Given the description of an element on the screen output the (x, y) to click on. 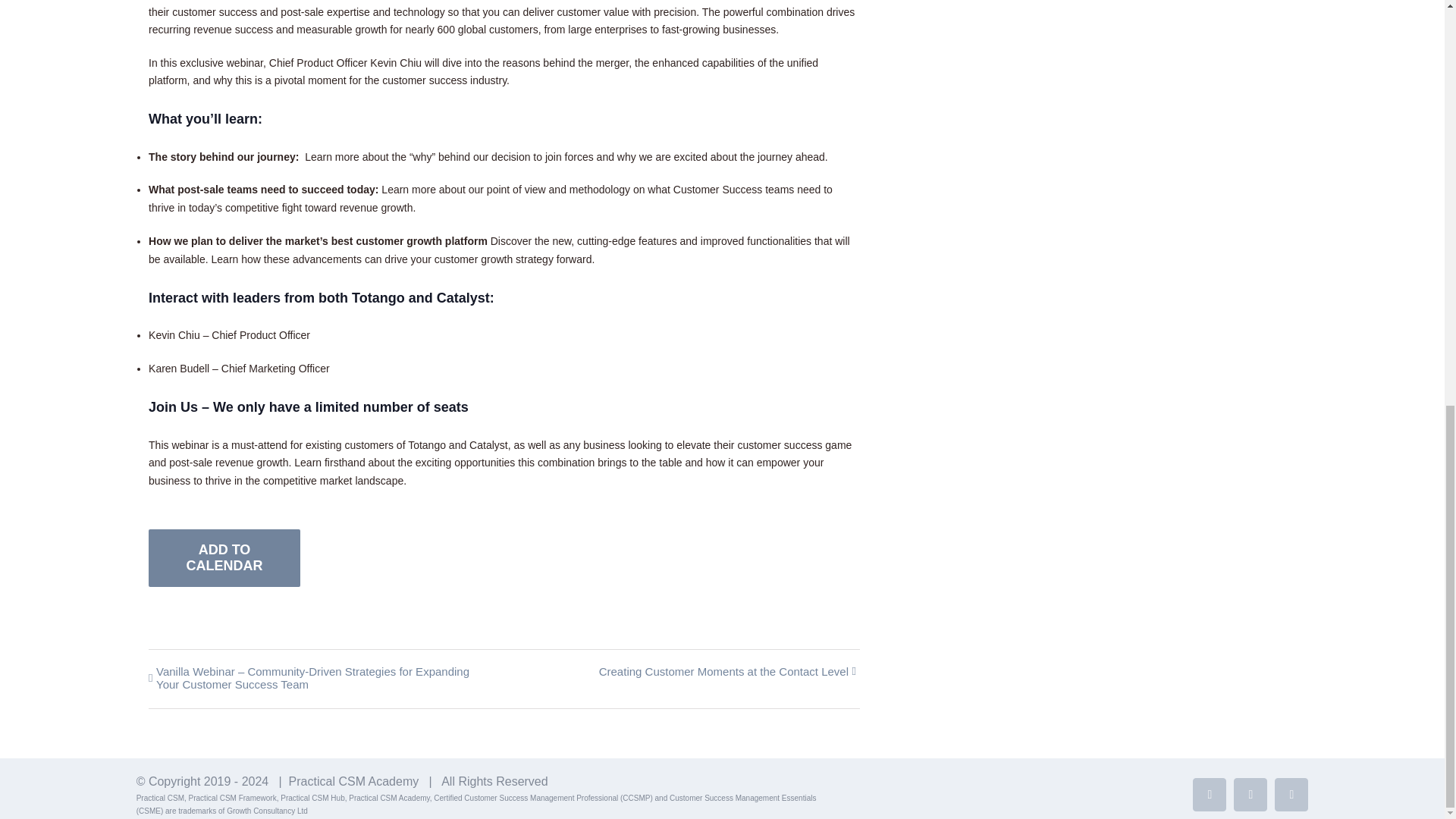
LinkedIn (1208, 794)
Email (1291, 794)
YouTube (1249, 794)
YouTube (1249, 794)
ADD TO CALENDAR (224, 558)
Creating Customer Moments at the Contact Level (719, 672)
Email (1291, 794)
LinkedIn (1208, 794)
